Given the description of an element on the screen output the (x, y) to click on. 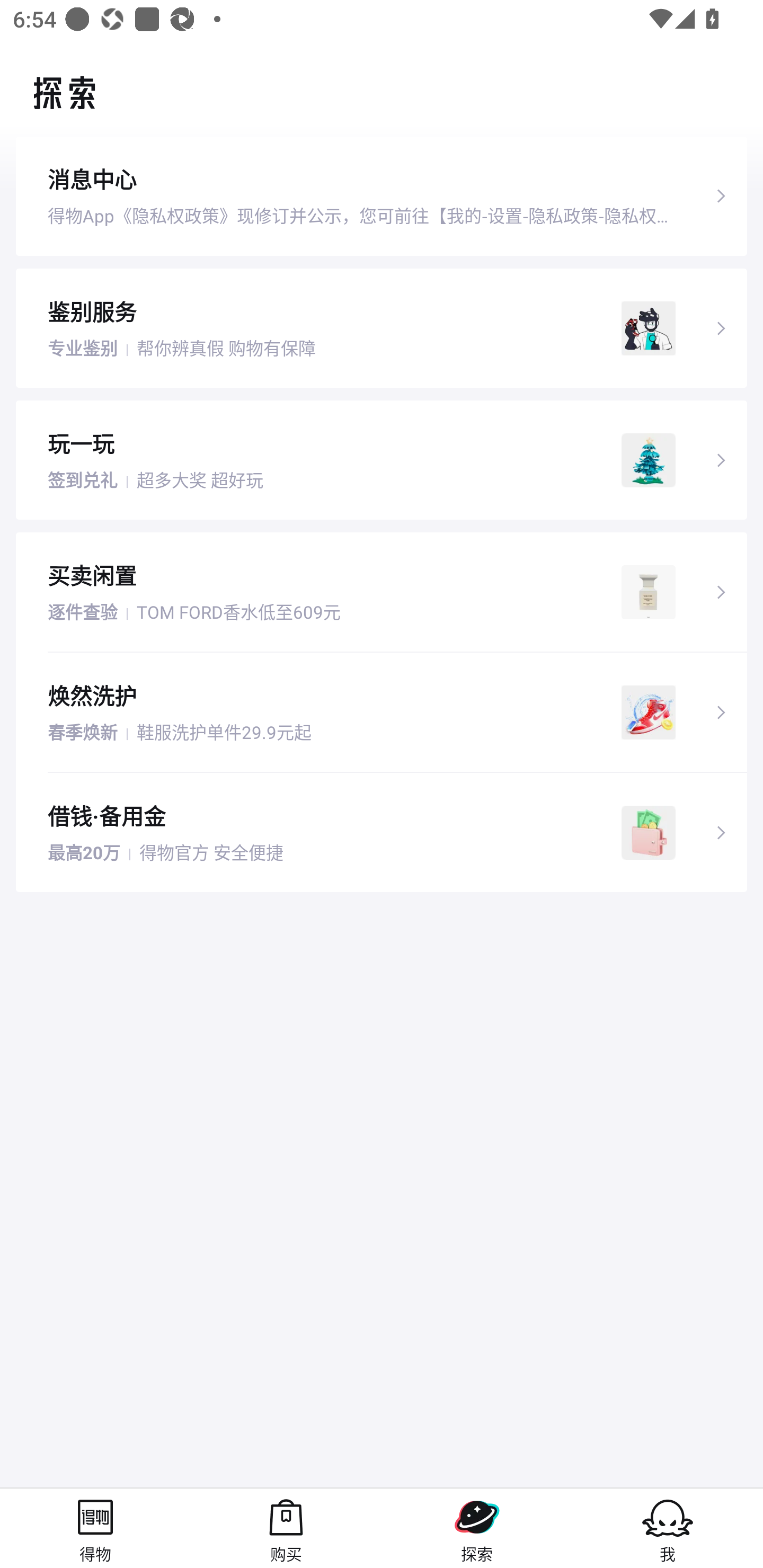
鉴别服务 专业鉴别 丨 帮你辨真假 购物有保障 (381, 327)
玩一玩 签到兑礼 丨 超多大奖 超好玩 (381, 459)
买卖闲置 逐件查验 丨 TOM FORD香水低至609元 (381, 592)
焕然洗护 春季焕新 丨 鞋服洗护单件29.9元起 (381, 711)
借钱·备用金 最高20万 丨 得物官方 安全便捷 (381, 832)
得物 (95, 1528)
购买 (285, 1528)
探索 (476, 1528)
我 (667, 1528)
